Given the description of an element on the screen output the (x, y) to click on. 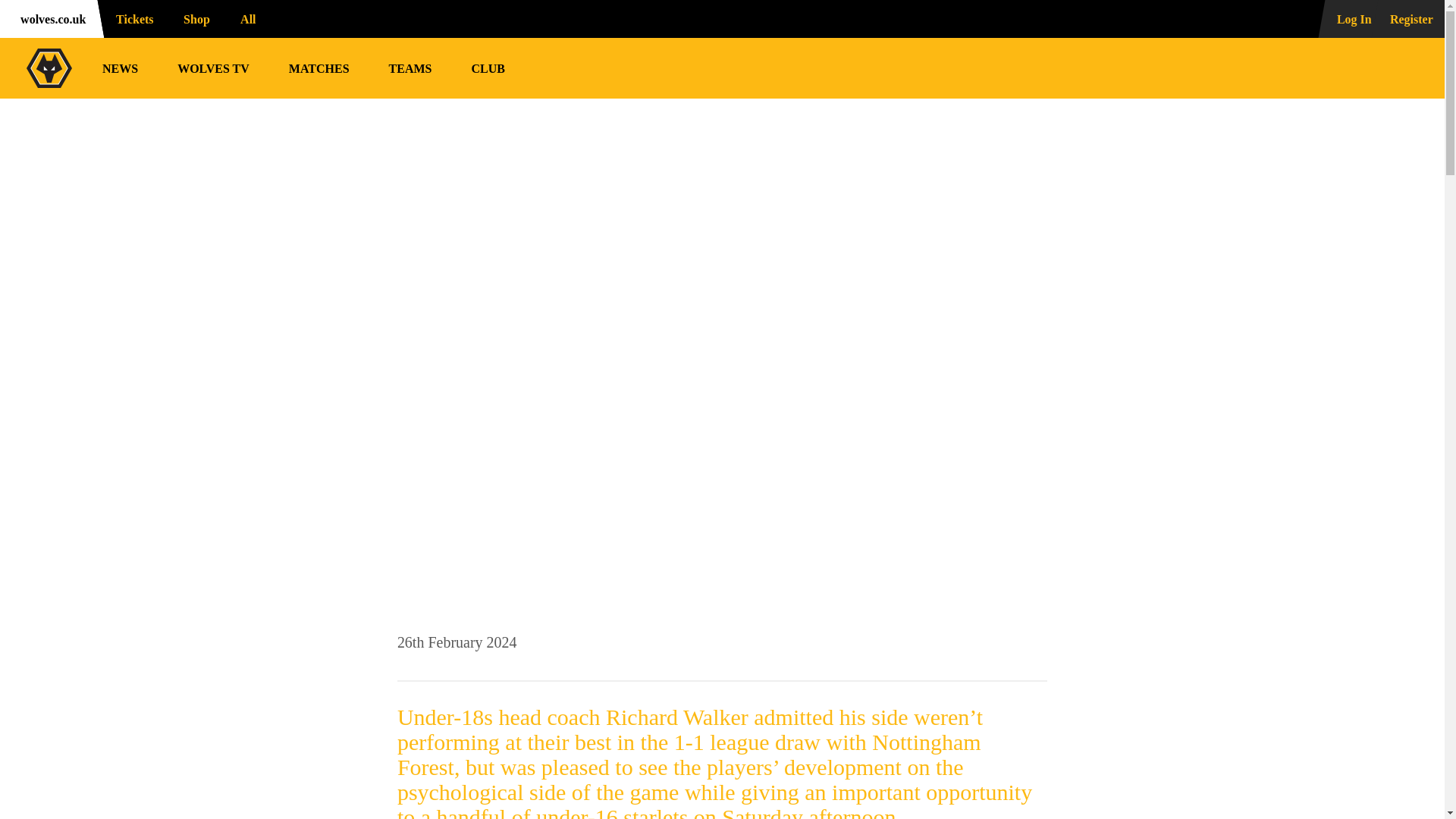
Skip to content (12, 12)
Tickets (130, 18)
wolves.co.uk (48, 18)
Log In (1346, 18)
All (254, 18)
Shop (193, 18)
